Given the description of an element on the screen output the (x, y) to click on. 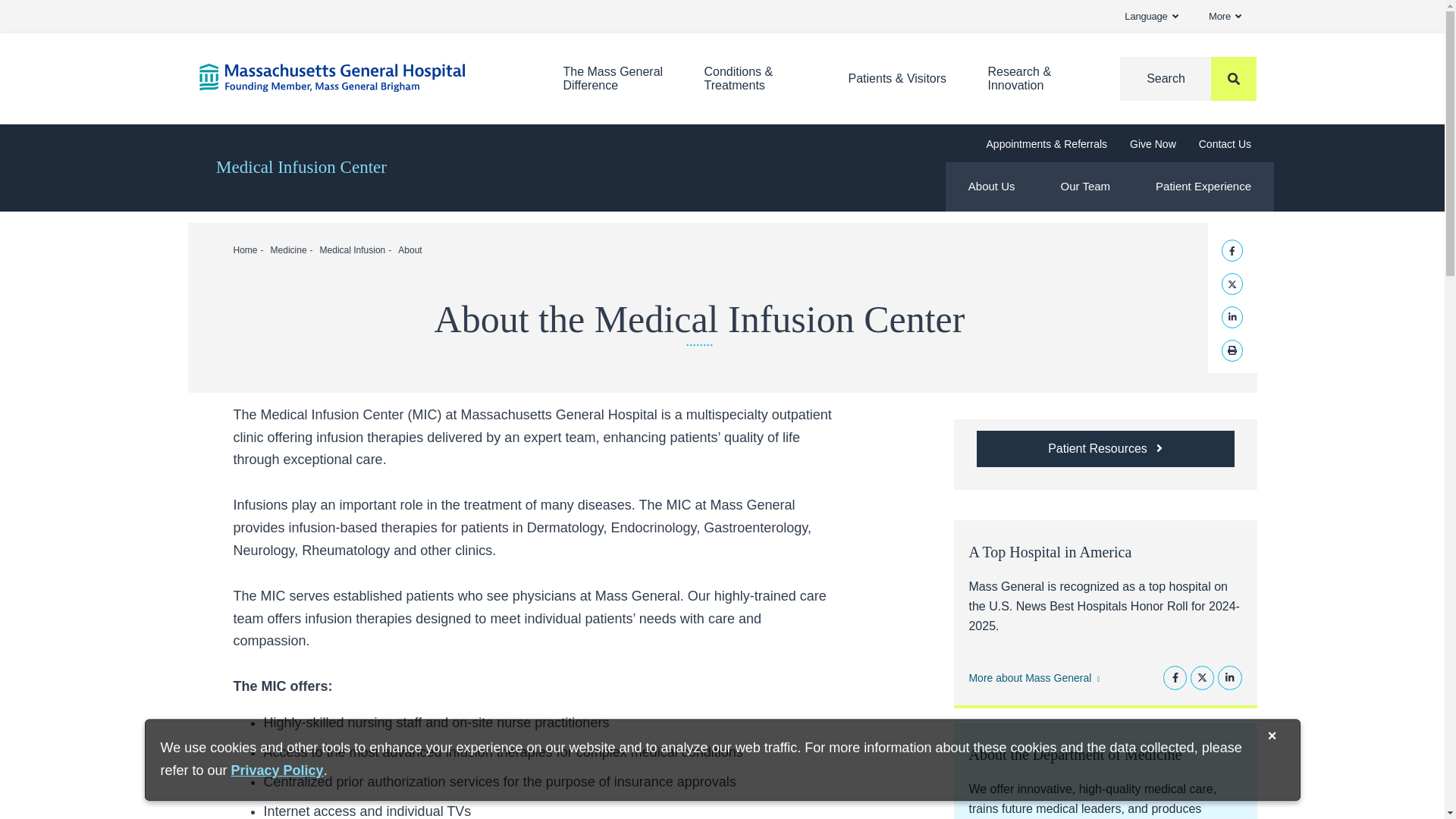
More (1224, 16)
Language (1151, 16)
Home (357, 77)
